Given the description of an element on the screen output the (x, y) to click on. 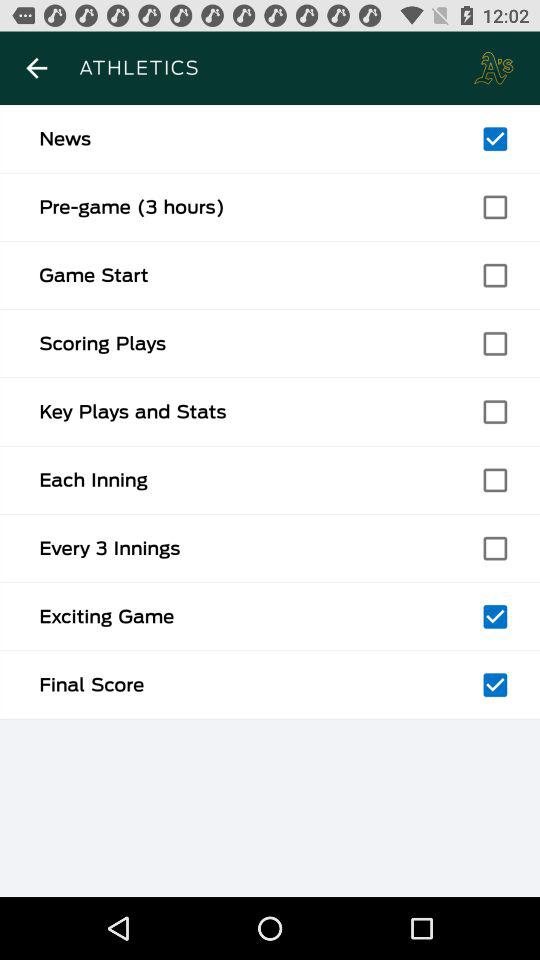
turn on item above the news (36, 68)
